Given the description of an element on the screen output the (x, y) to click on. 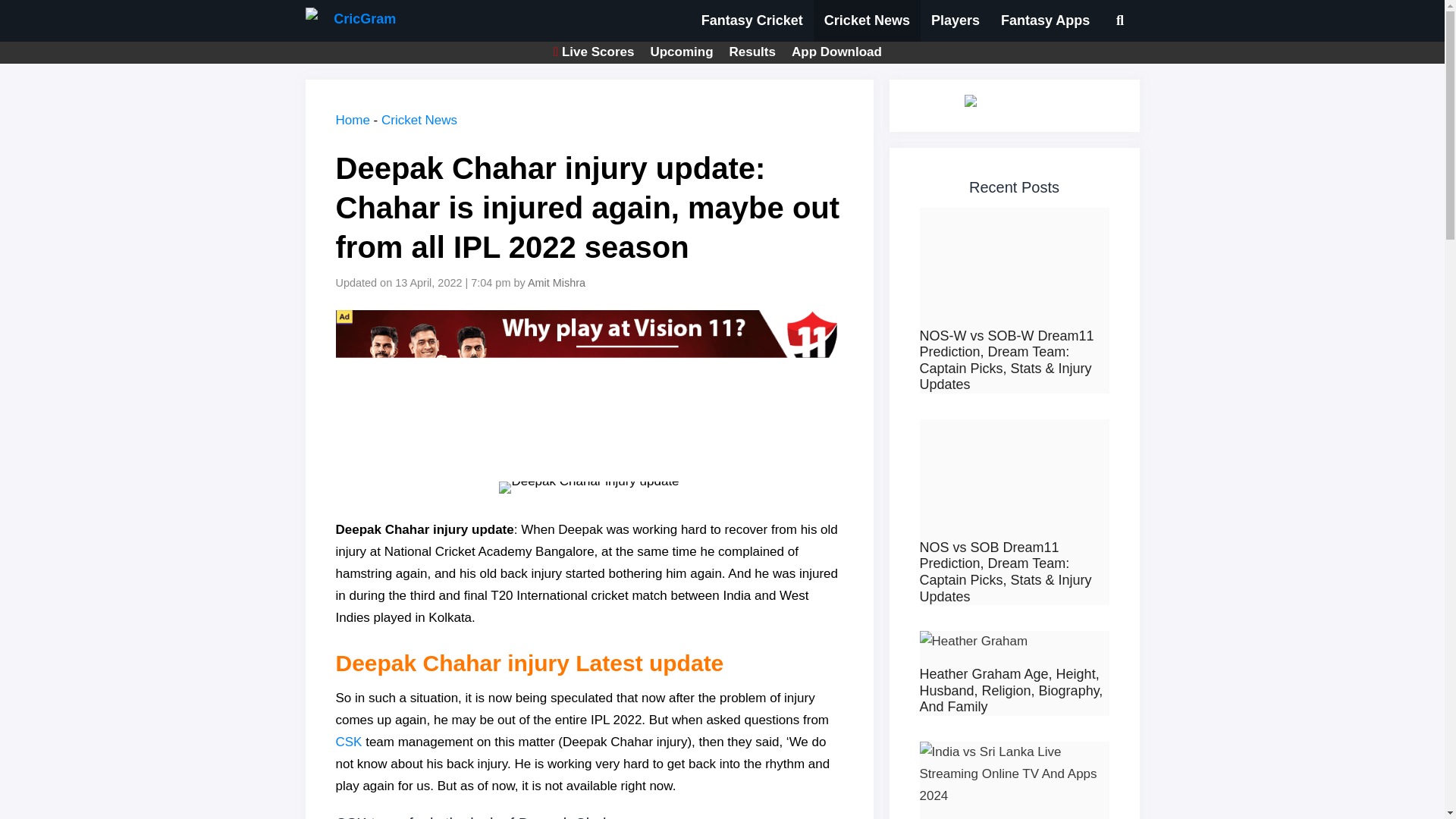
Results (752, 51)
View all posts by Amit Mishra (557, 282)
App Download (837, 51)
CricGram (350, 20)
Upcoming (681, 51)
Players (955, 20)
CSK (349, 741)
Cricket News (866, 20)
CricGram (353, 20)
Fantasy Apps (1045, 20)
Fantasy Cricket (751, 20)
Amit Mishra (557, 282)
Cricket News (419, 120)
Home (351, 120)
